Given the description of an element on the screen output the (x, y) to click on. 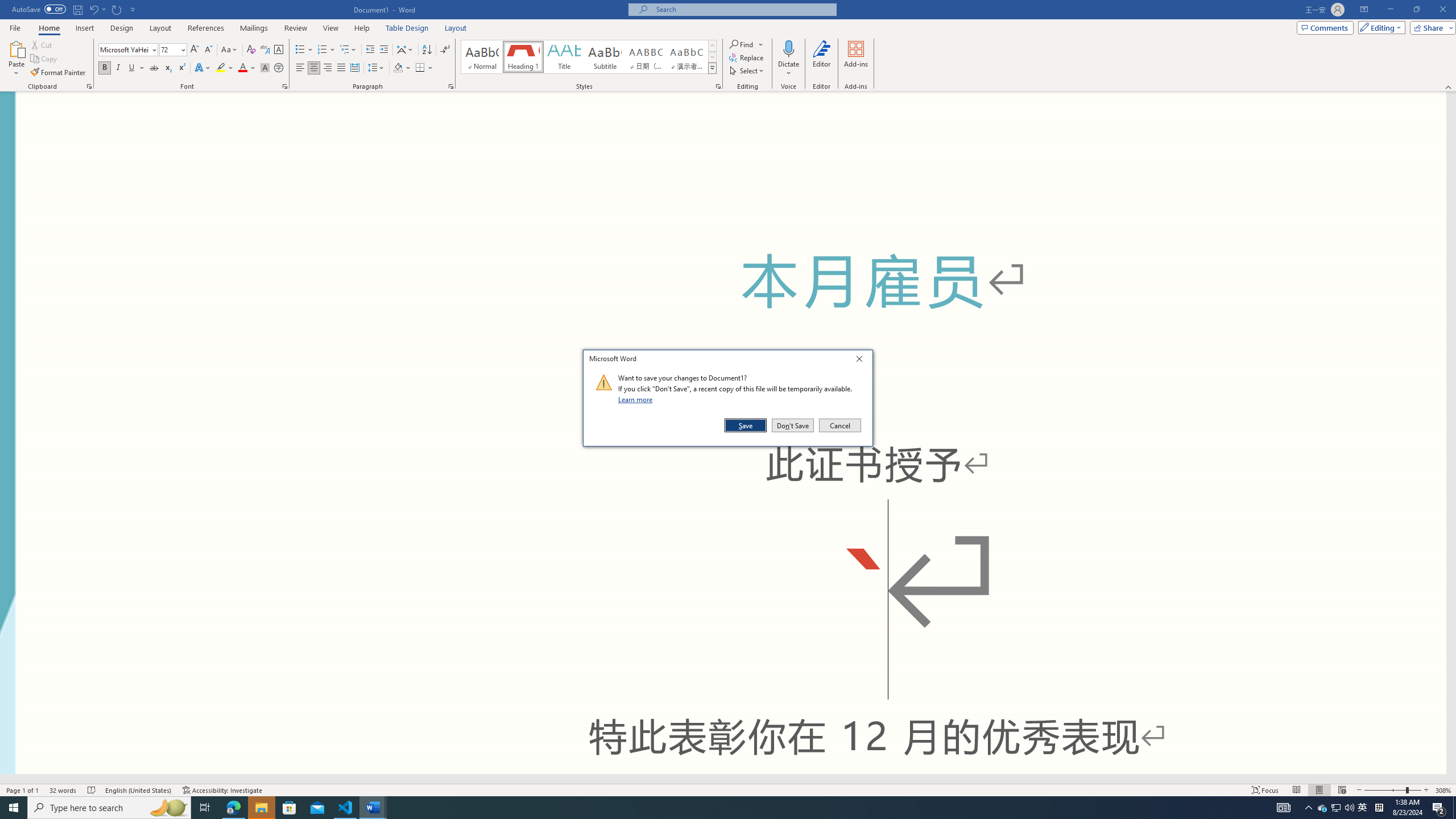
Q2790: 100% (1335, 807)
Bold (1349, 807)
Table Design (104, 67)
Copy (407, 28)
Font Color (45, 58)
Replace... (246, 67)
Notification Chevron (747, 56)
